Given the description of an element on the screen output the (x, y) to click on. 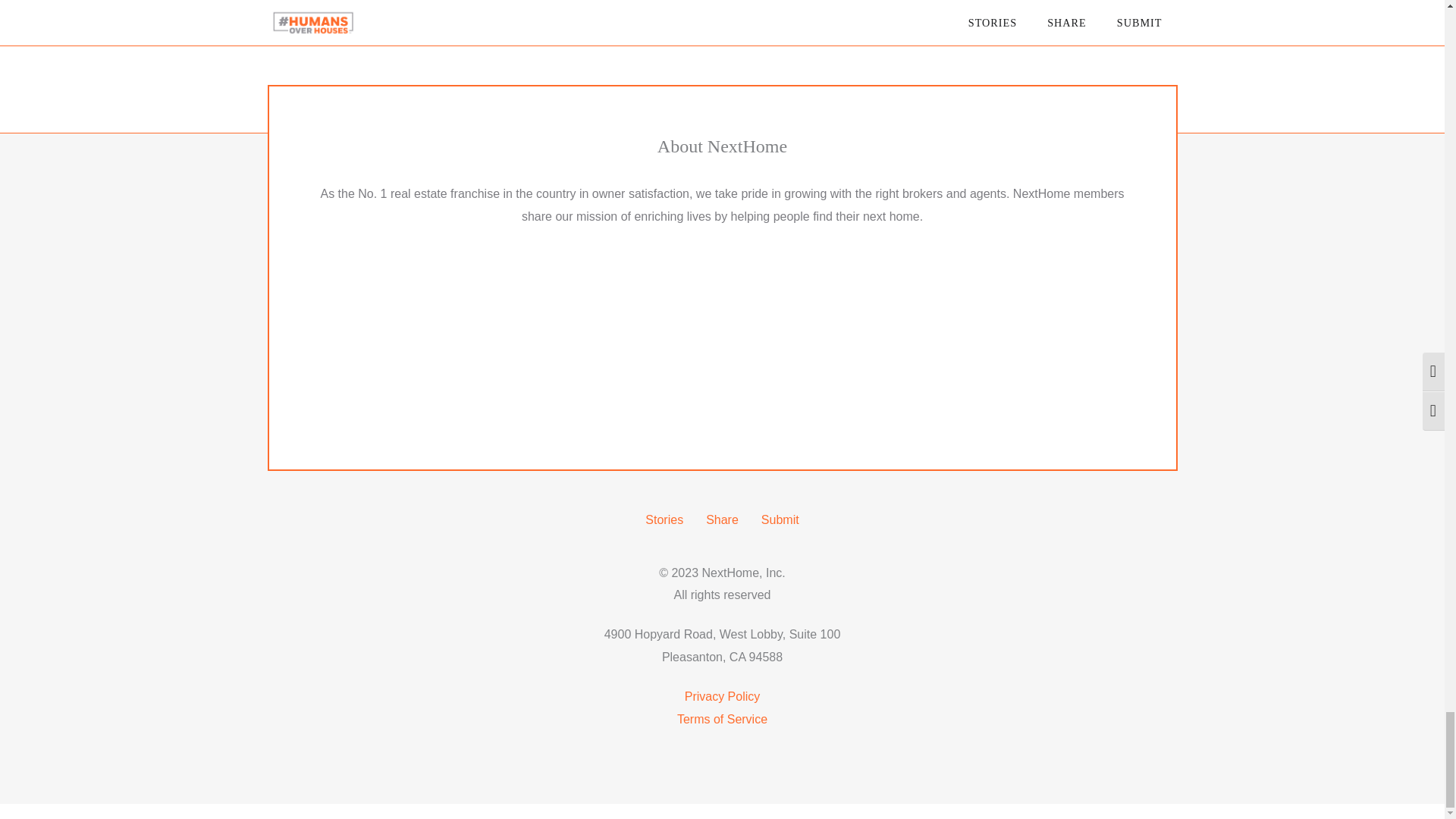
Stories (663, 519)
Terms of Service (722, 718)
Share (721, 519)
Privacy Policy (722, 696)
Submit (779, 519)
